Given the description of an element on the screen output the (x, y) to click on. 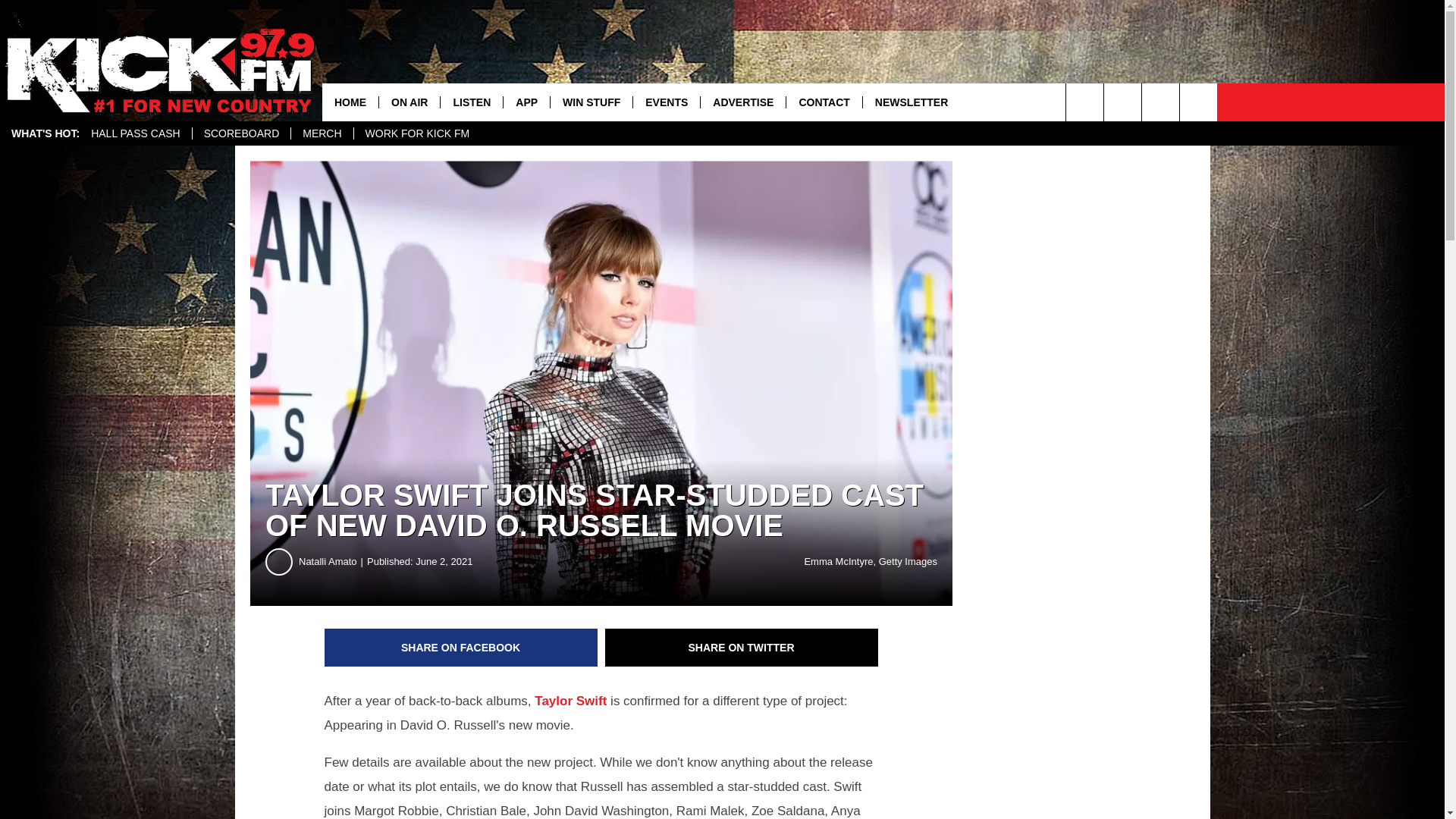
WORK FOR KICK FM (417, 133)
CONTACT (823, 102)
SCOREBOARD (241, 133)
HOME (349, 102)
LISTEN (470, 102)
HALL PASS CASH (136, 133)
MERCH (320, 133)
ON AIR (408, 102)
NEWSLETTER (910, 102)
ADVERTISE (743, 102)
Share on Twitter (741, 647)
WIN STUFF (590, 102)
APP (526, 102)
EVENTS (665, 102)
Share on Facebook (460, 647)
